Given the description of an element on the screen output the (x, y) to click on. 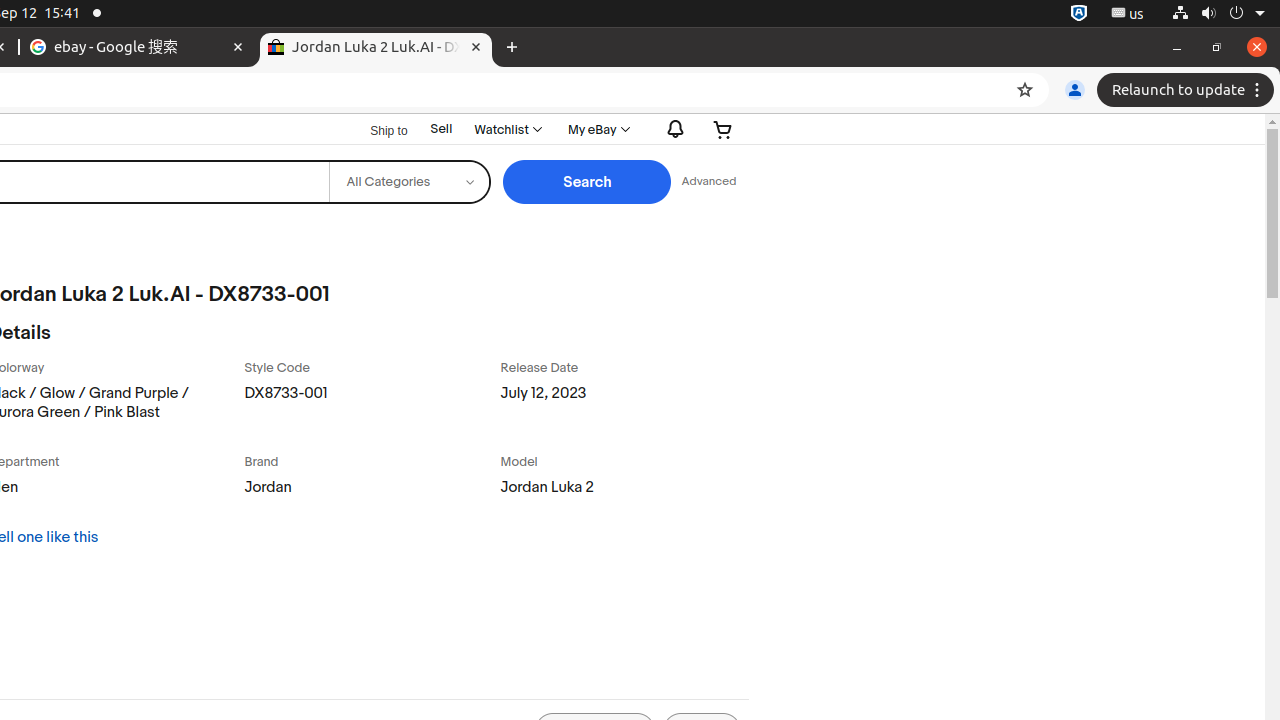
New Tab Element type: push-button (512, 47)
Advanced Search Element type: link (709, 182)
You Element type: push-button (1075, 90)
Sell Element type: link (441, 129)
All Categories Element type: menu-item (409, 182)
